Given the description of an element on the screen output the (x, y) to click on. 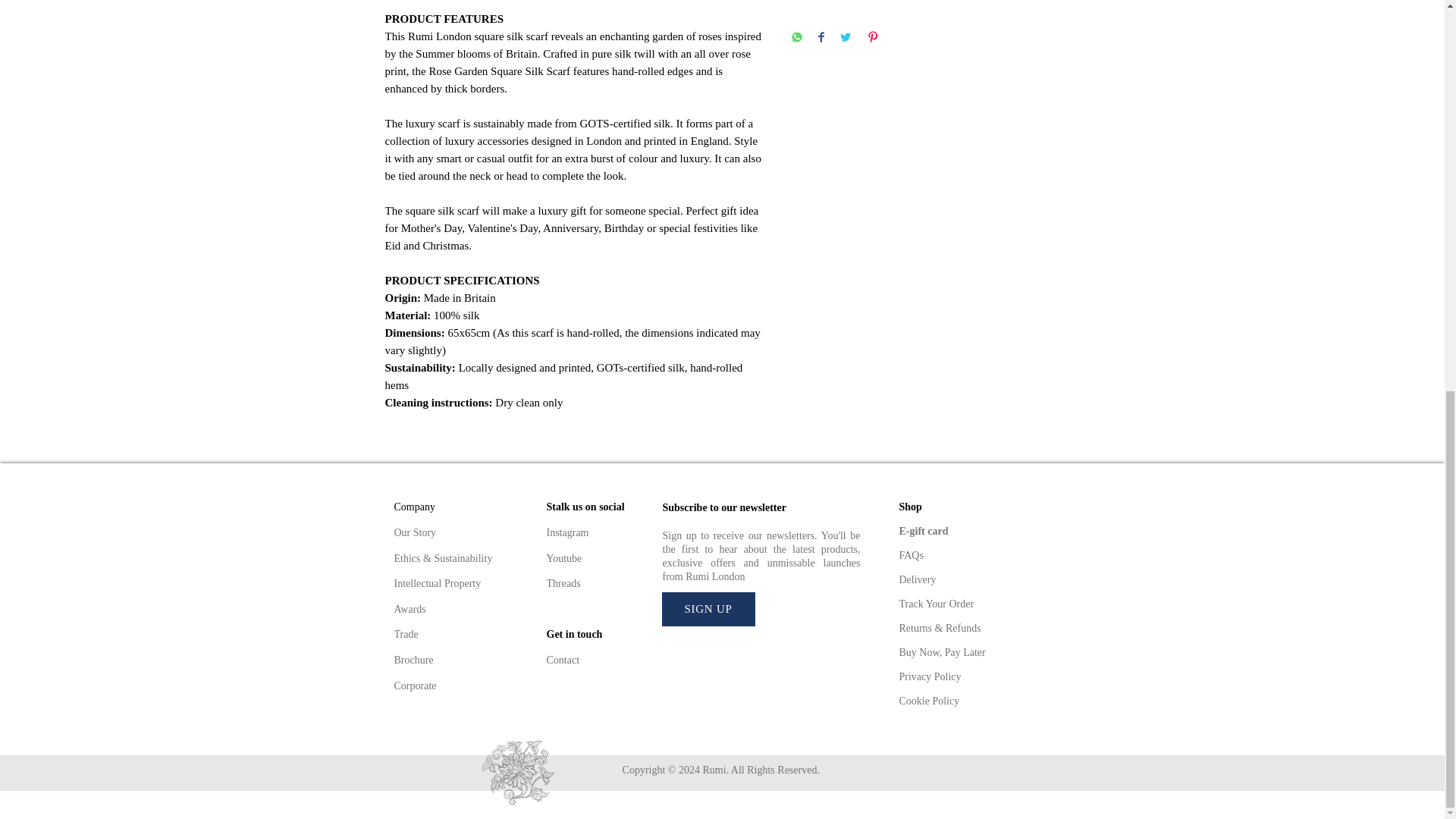
Awards (410, 609)
Instagram (567, 532)
Threads (562, 583)
Contact (562, 659)
SIGN UP (707, 609)
Our Story (415, 532)
Youtube (563, 558)
Brochure (413, 659)
Trade  (408, 633)
Intellectual Property (437, 583)
